Given the description of an element on the screen output the (x, y) to click on. 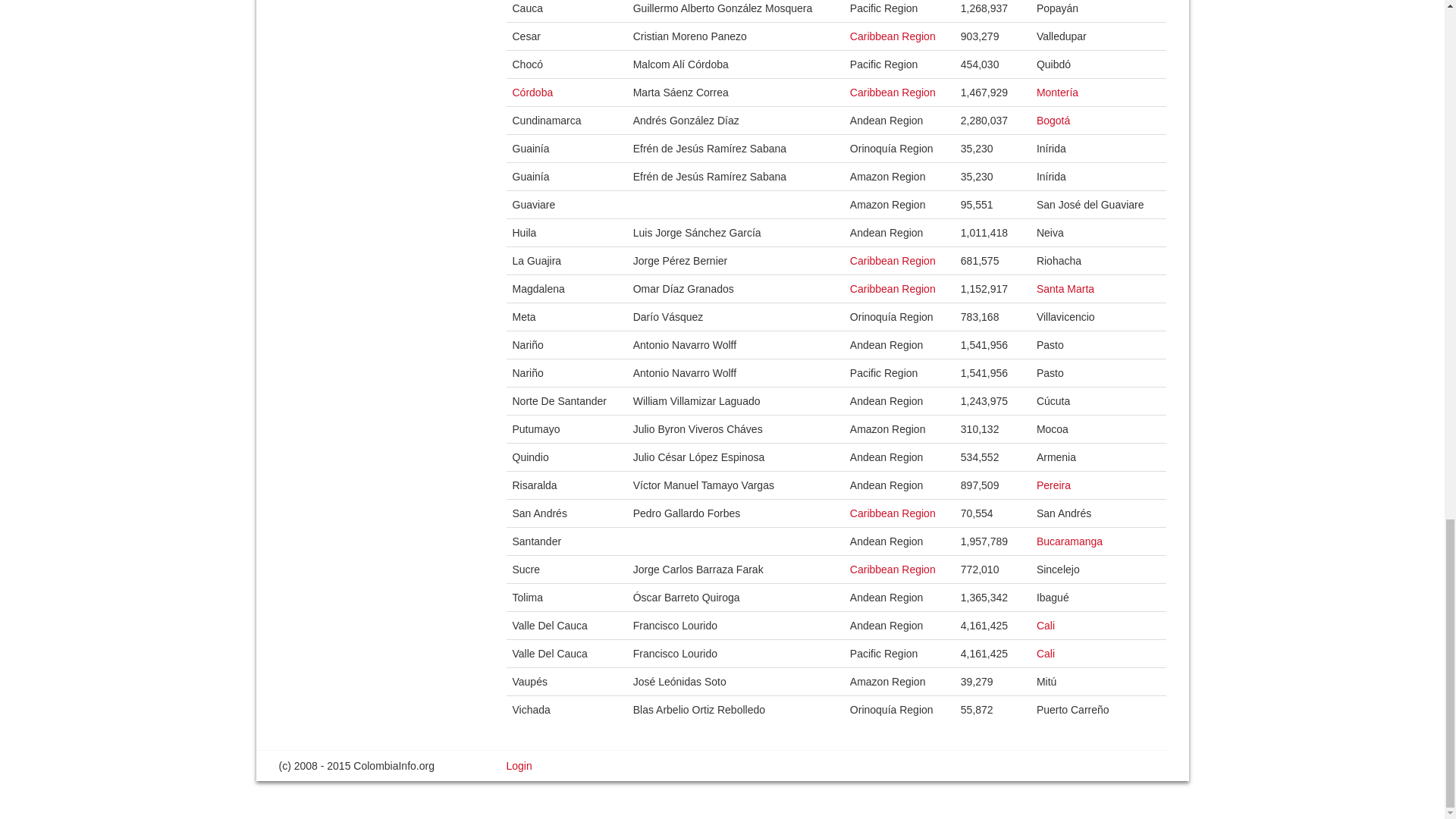
Information about Bucaramanga (1069, 541)
Information about Pereira (1053, 485)
Information about Cali (1045, 653)
Information about Cali (1045, 625)
Information about Santa Marta (1065, 288)
Login (519, 766)
